Given the description of an element on the screen output the (x, y) to click on. 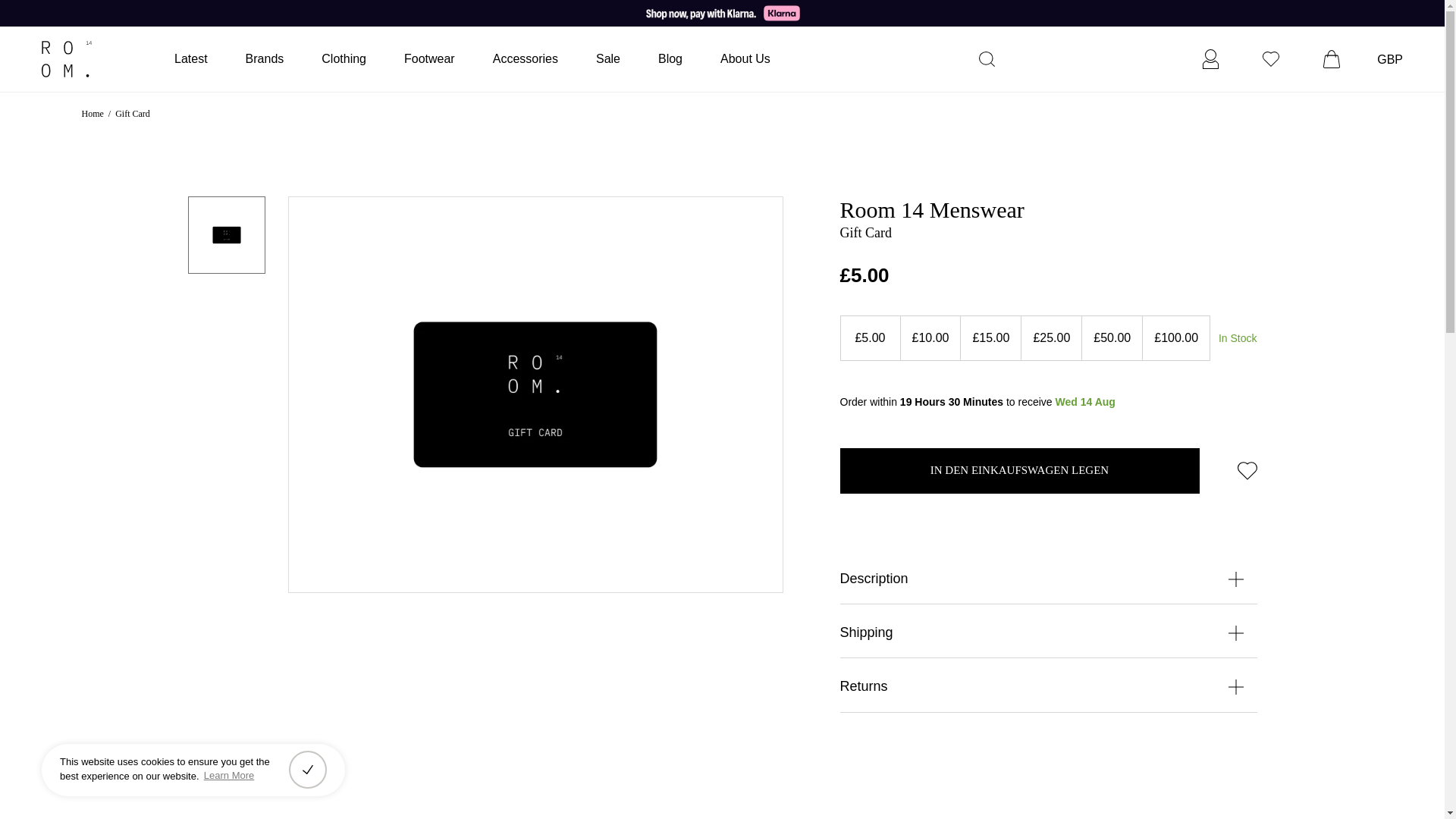
Wishlist (1270, 58)
Clothing (343, 58)
Learn More (229, 775)
Settings (1210, 58)
Back to the home page (92, 113)
Latest (191, 58)
ROOM 14 MENSWEAR (98, 58)
Brands (264, 58)
Search (991, 58)
Einkaufswagen (1331, 58)
